Given the description of an element on the screen output the (x, y) to click on. 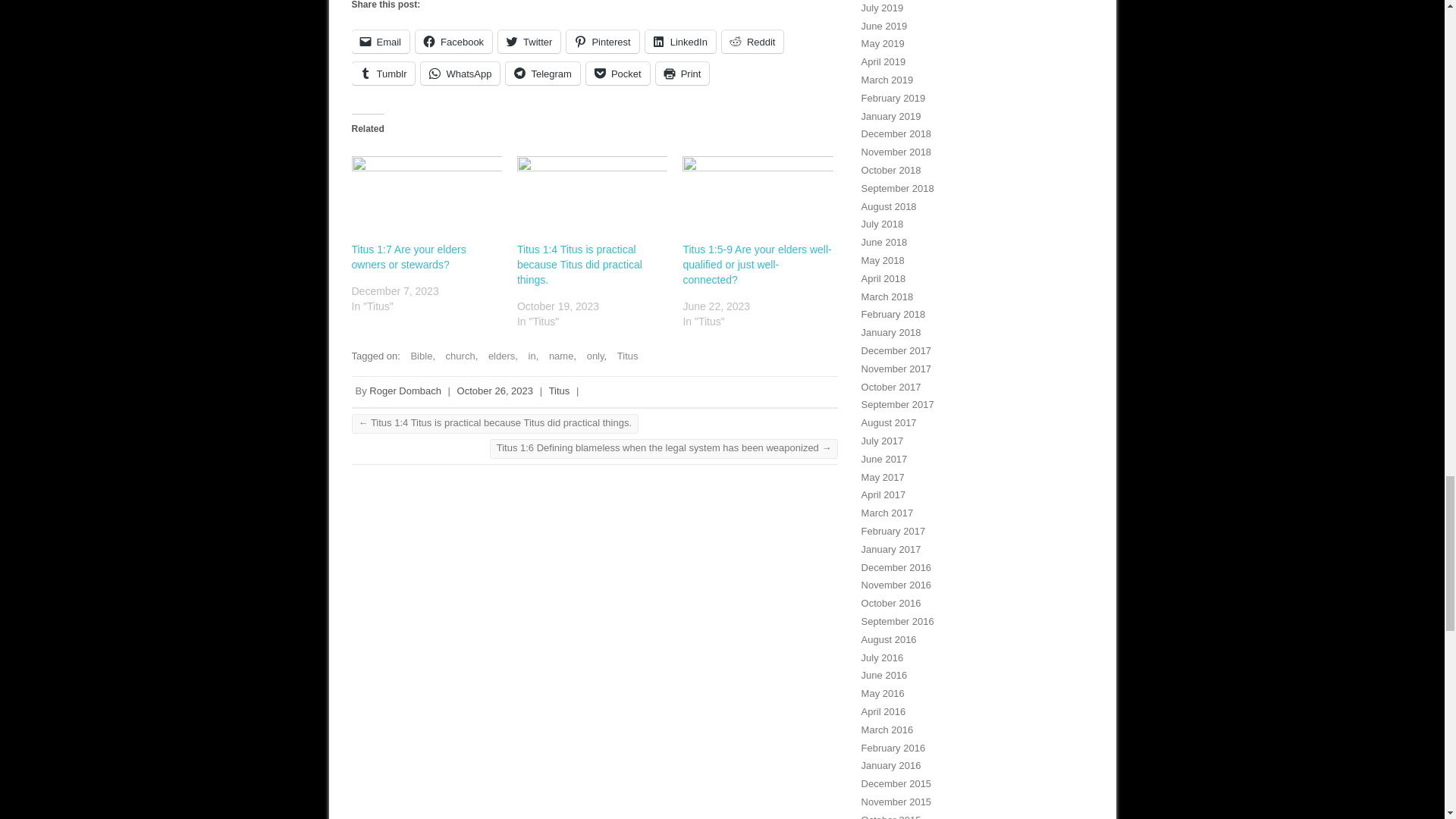
Titus 1:7 Are your elders owners or stewards? (427, 198)
Pinterest (602, 41)
church (457, 355)
Bible (417, 355)
LinkedIn (680, 41)
Twitter (528, 41)
Click to email a link to a friend (381, 41)
Tumblr (383, 73)
Click to share on WhatsApp (459, 73)
Print (683, 73)
Click to share on Twitter (528, 41)
Reddit (753, 41)
Titus (624, 355)
Pocket (617, 73)
